Given the description of an element on the screen output the (x, y) to click on. 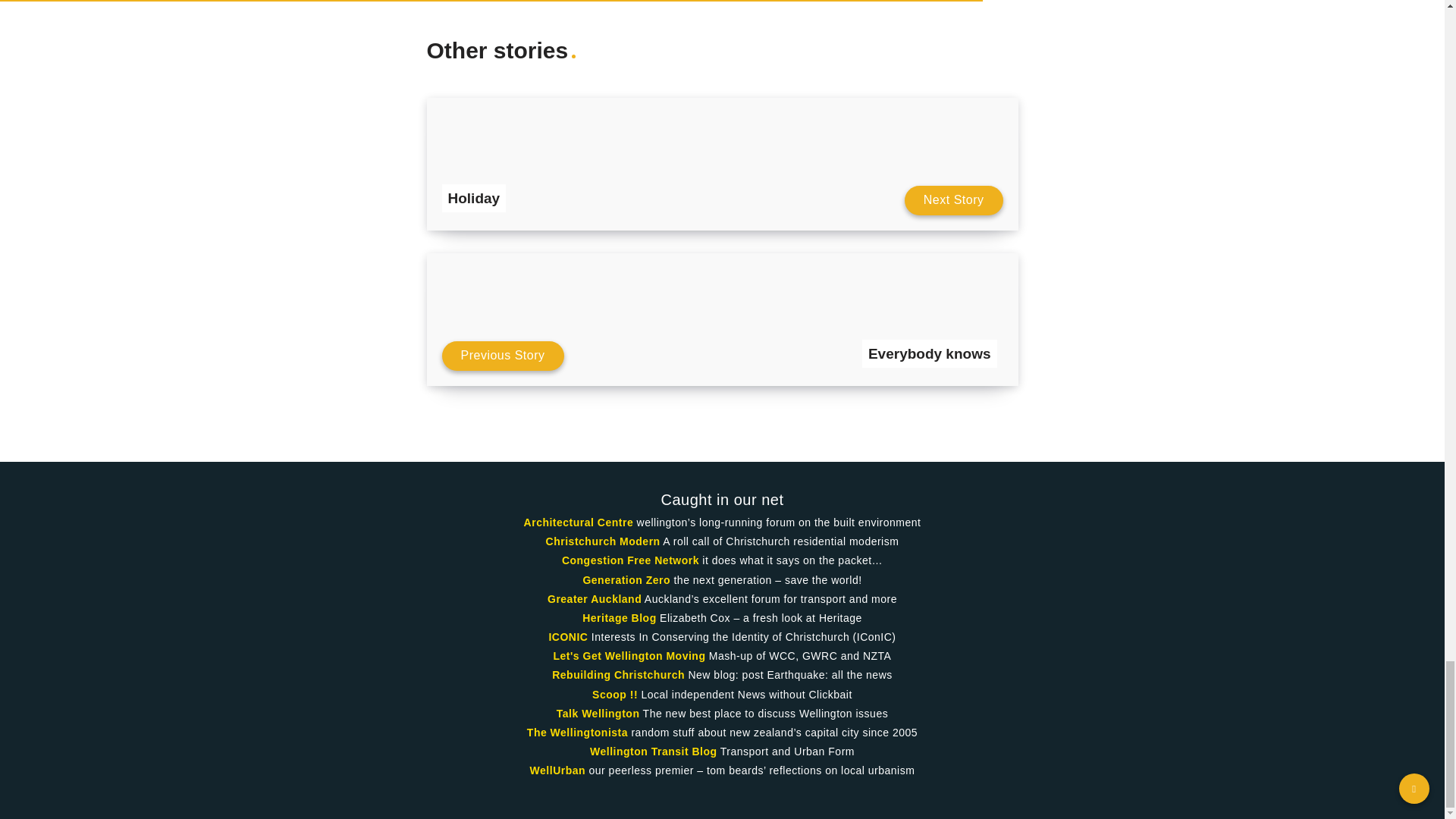
Rebuilding Christchurch (617, 674)
Architectural Centre (578, 522)
Let's Get Wellington Moving (629, 655)
A roll call of Christchurch residential moderism (603, 541)
Christchurch Modern (603, 541)
Generation Zero (625, 580)
Local independent News without Clickbait (614, 694)
Mash-up of WCC, GWRC and NZTA (629, 655)
Heritage Blog (619, 617)
Congestion Free Network (630, 560)
